Given the description of an element on the screen output the (x, y) to click on. 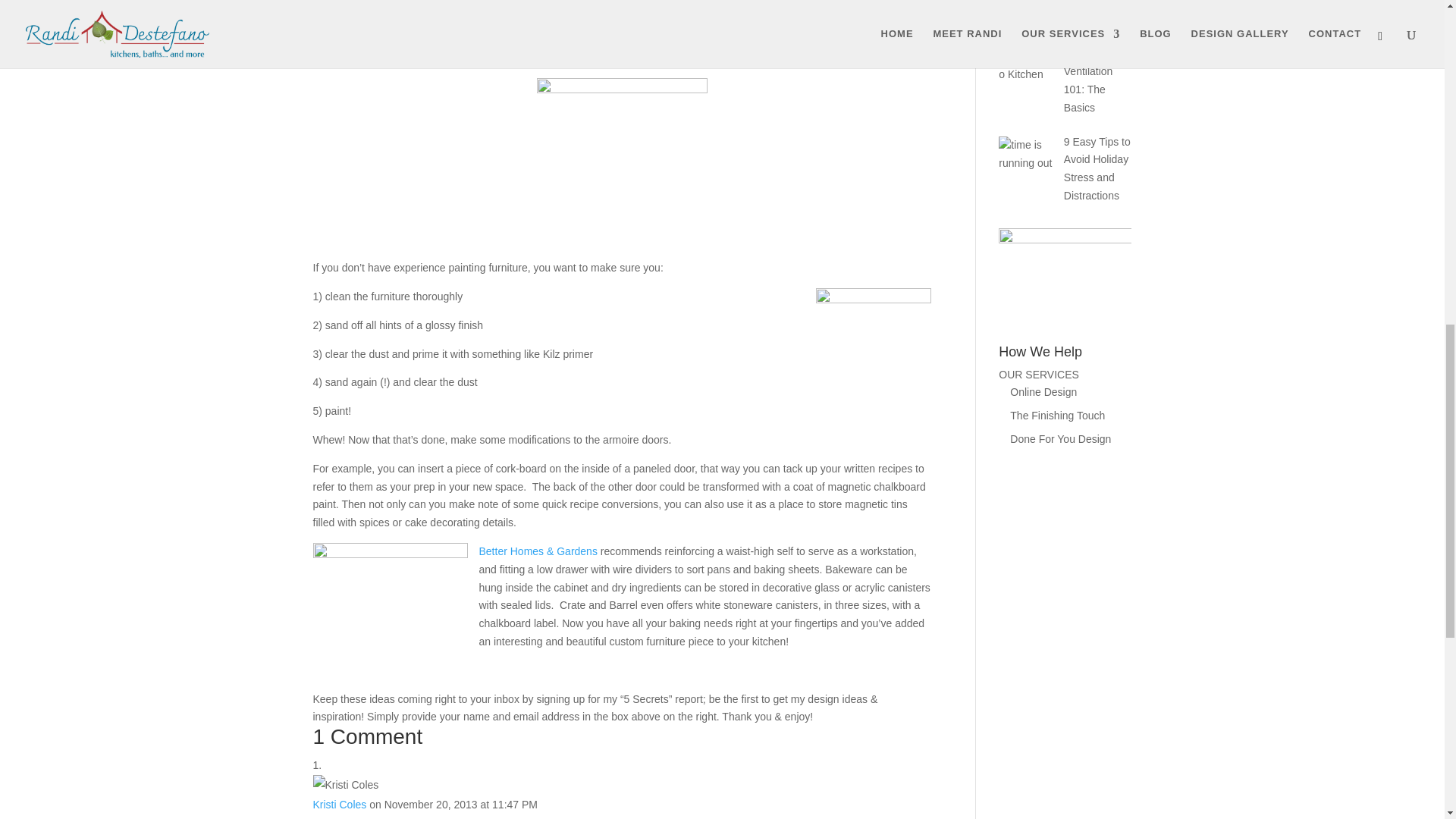
OUR SERVICES (1038, 374)
How To Make Life Easy At Home: Useful Tips For Any Age (1062, 12)
The Finishing Touch (1057, 415)
9 Easy Tips to Avoid Holiday Stress and Distractions (1097, 168)
Online Design (1043, 391)
Kristi Coles (339, 804)
Done For You Design (1060, 439)
